Given the description of an element on the screen output the (x, y) to click on. 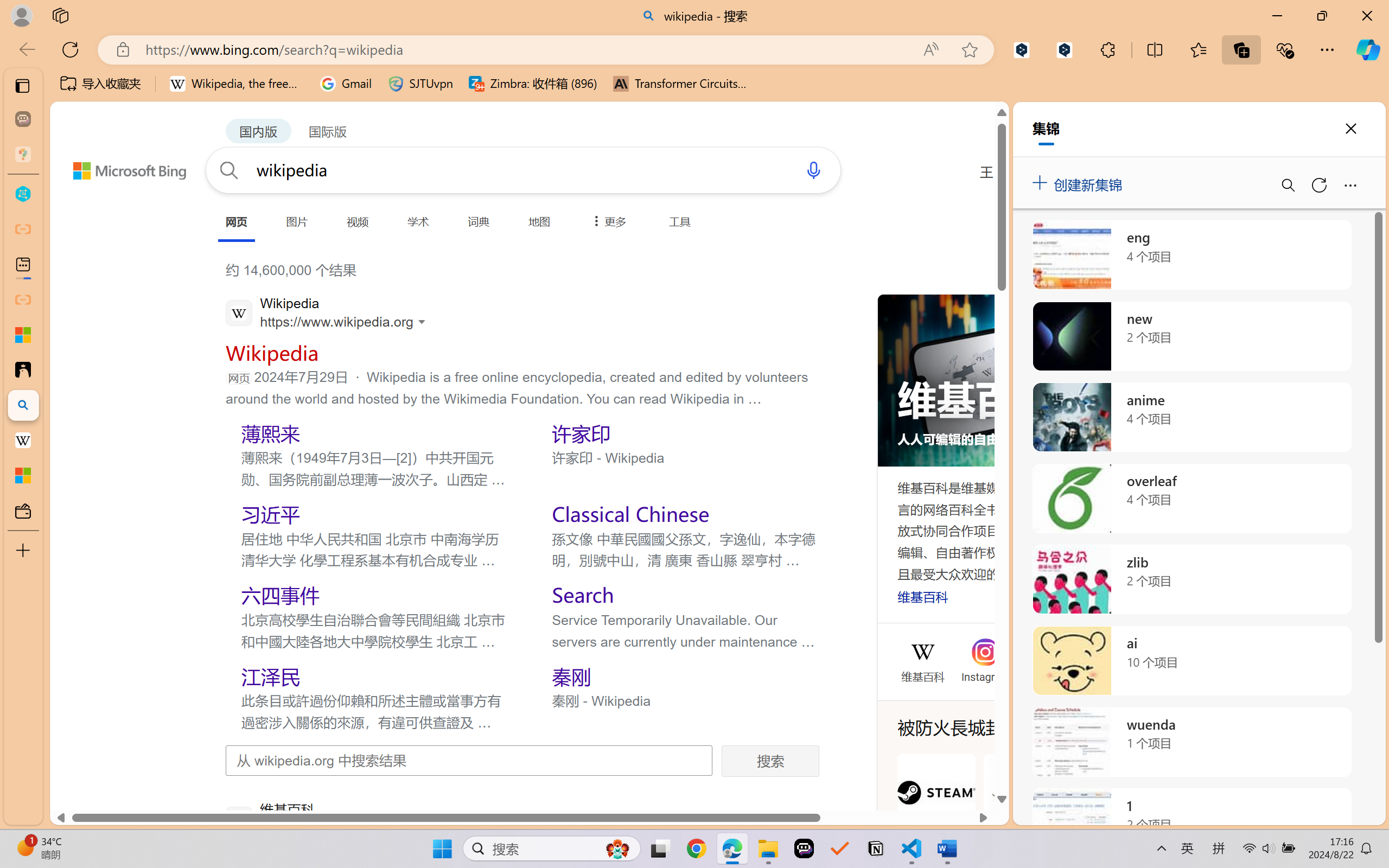
Adjust indents and spacing - Microsoft Support (22, 334)
AutomationID: mfa_root (927, 739)
